Given the description of an element on the screen output the (x, y) to click on. 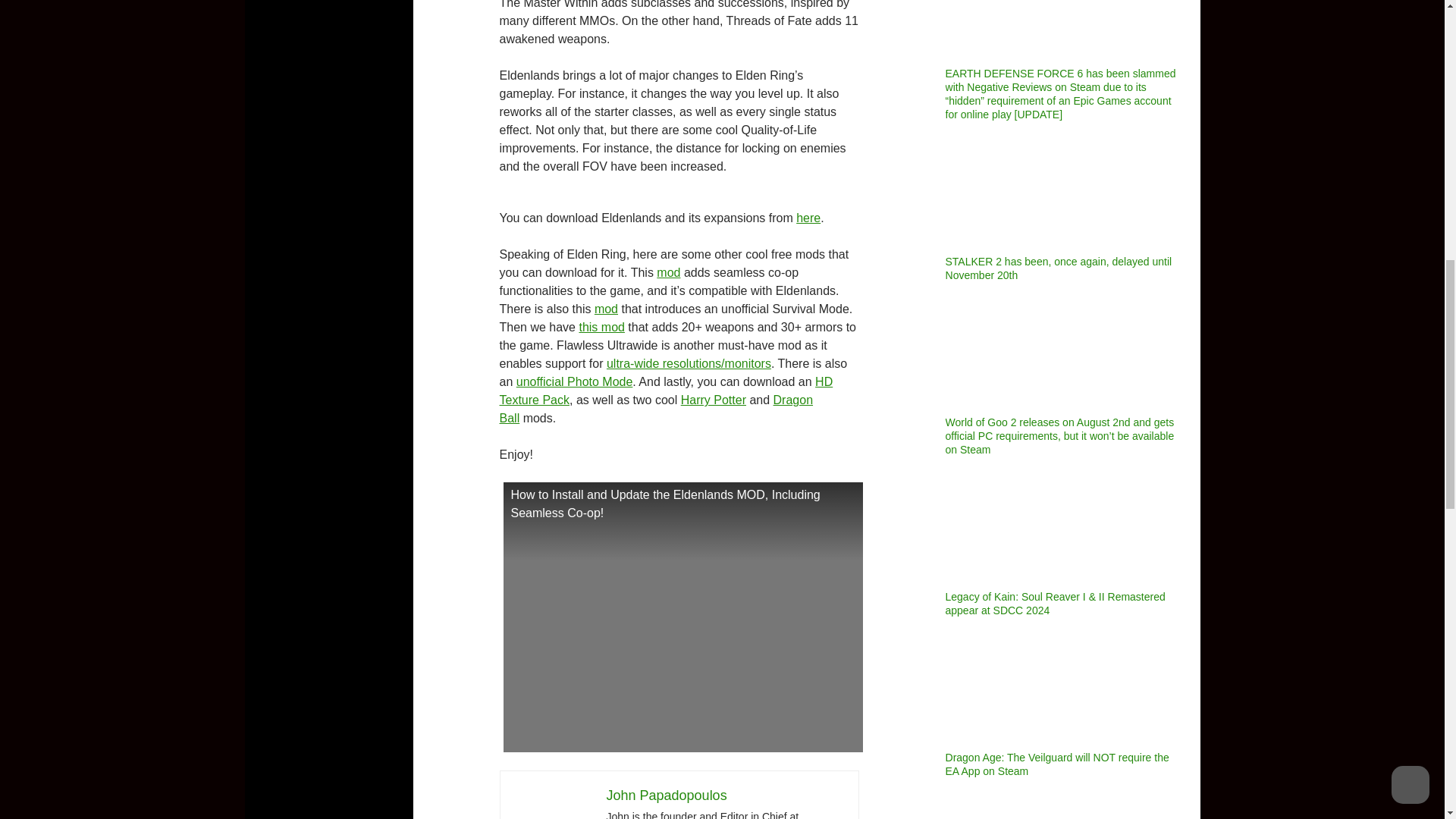
unofficial Photo Mode (574, 381)
mod (605, 308)
here (808, 217)
mod (667, 272)
this mod (601, 327)
HD Texture Pack (665, 390)
